Given the description of an element on the screen output the (x, y) to click on. 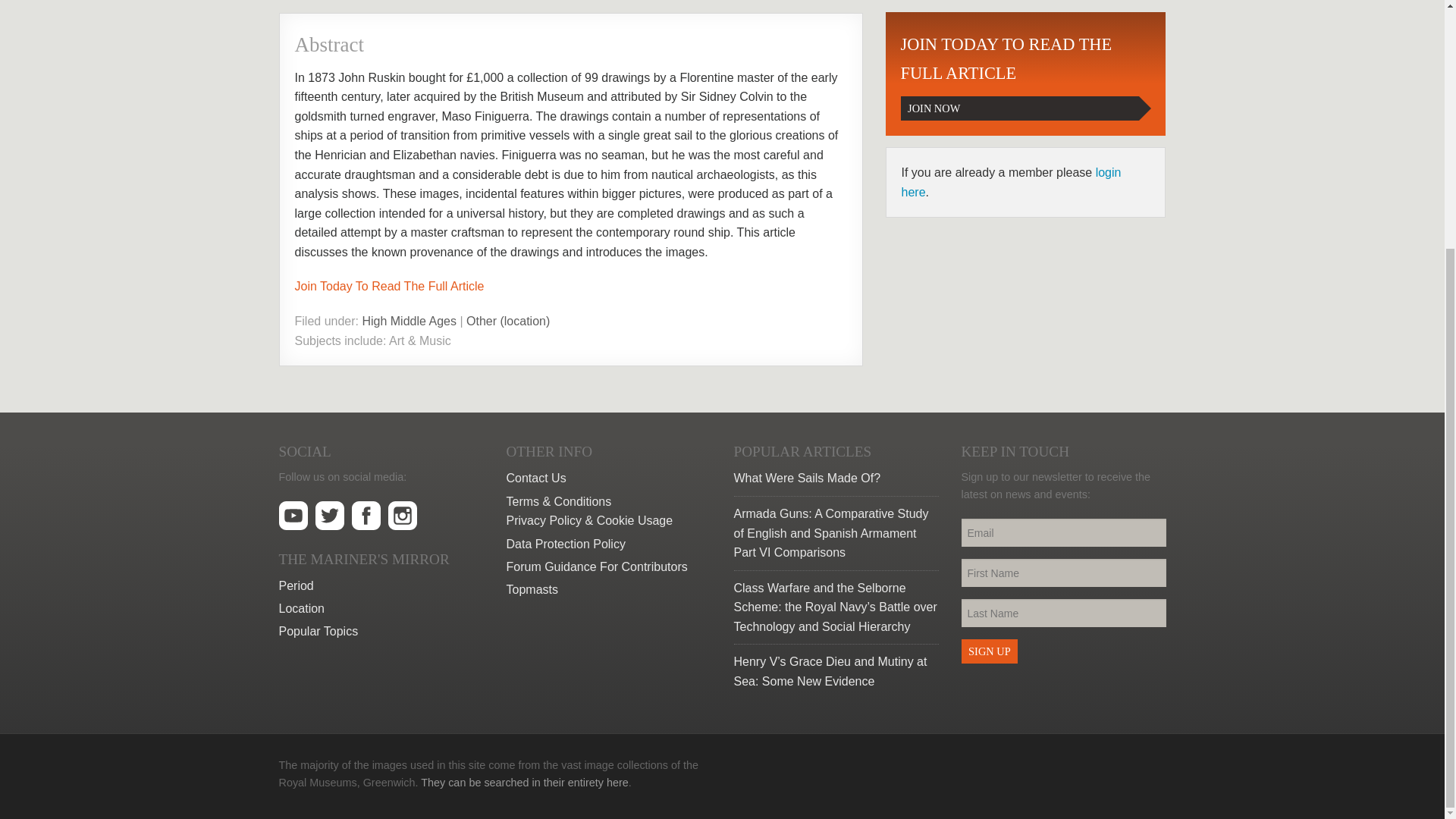
Forum Guidance For Contributors (608, 567)
login here (1011, 182)
Data Protection Policy (608, 544)
Contact Us (1025, 73)
Sign Up (608, 478)
Period (988, 651)
Location (381, 586)
Join Today To Read The Full Article (381, 608)
